Given the description of an element on the screen output the (x, y) to click on. 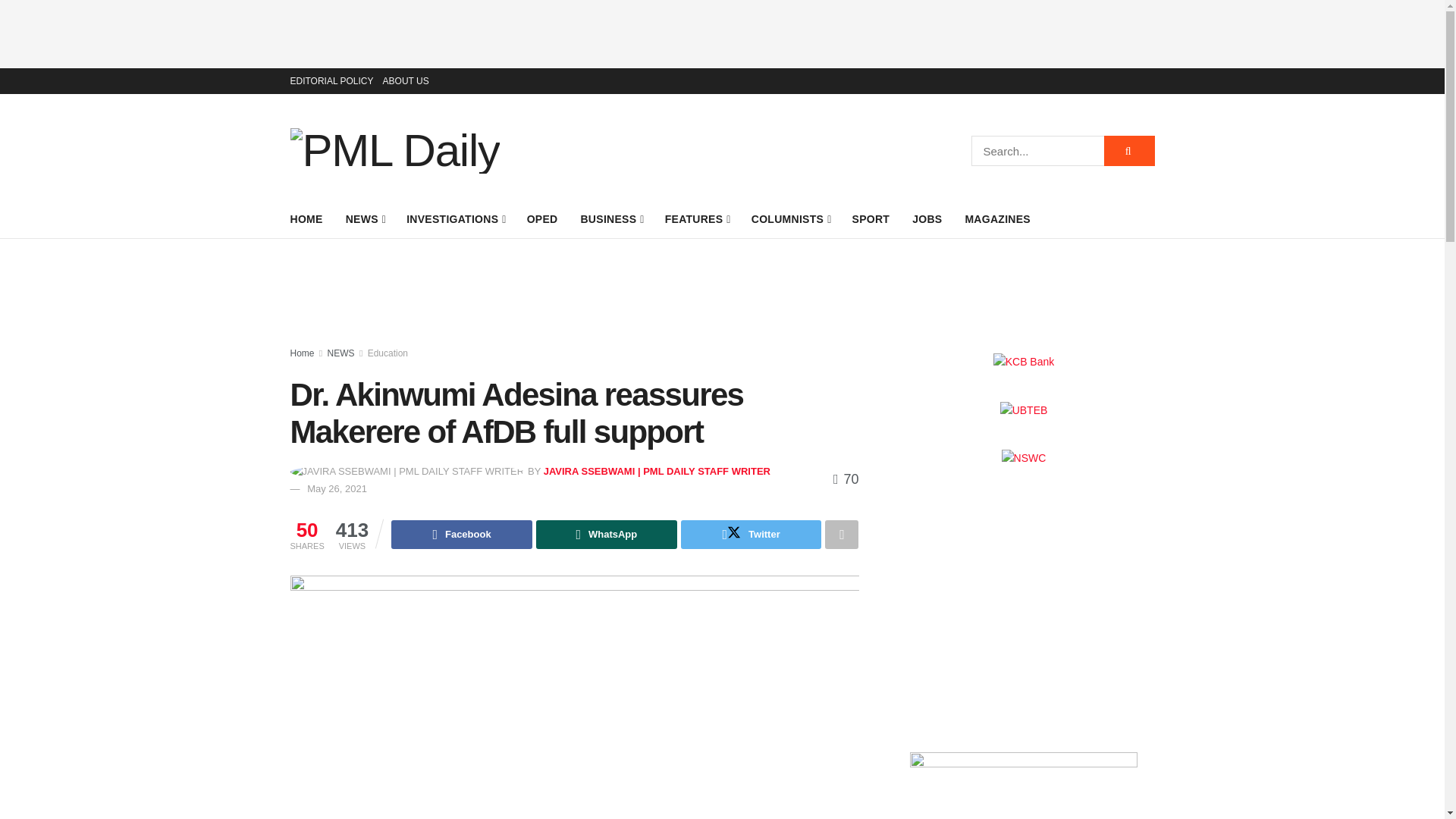
MAGAZINES (996, 219)
OPED (542, 219)
NEWS (365, 219)
FEATURES (697, 219)
INVESTIGATIONS (454, 219)
JOBS (927, 219)
HOME (305, 219)
ABOUT US (405, 80)
SPORT (870, 219)
EDITORIAL POLICY (330, 80)
COLUMNISTS (790, 219)
BUSINESS (610, 219)
